Given the description of an element on the screen output the (x, y) to click on. 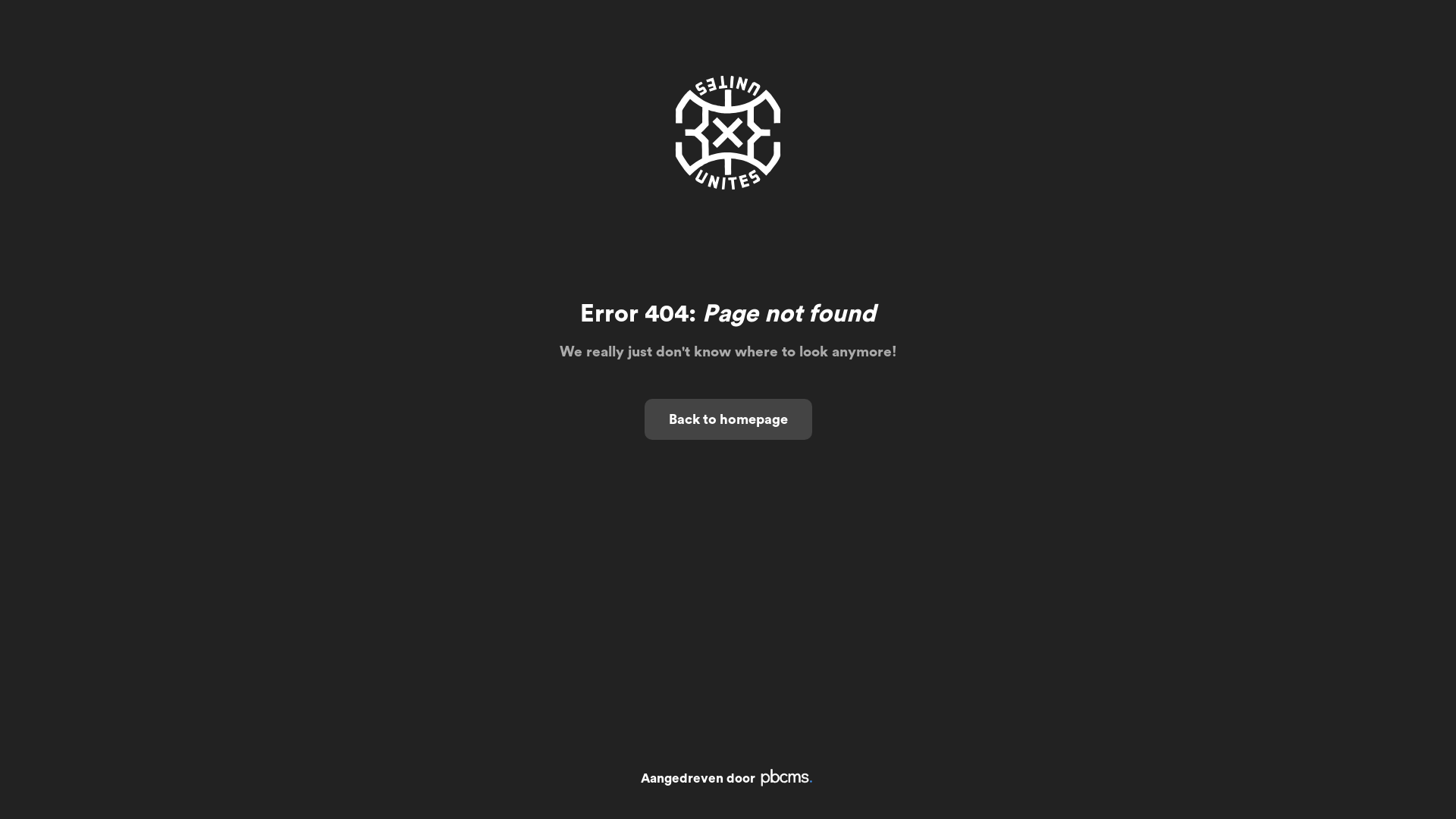
Back to homepage Element type: text (728, 418)
